Given the description of an element on the screen output the (x, y) to click on. 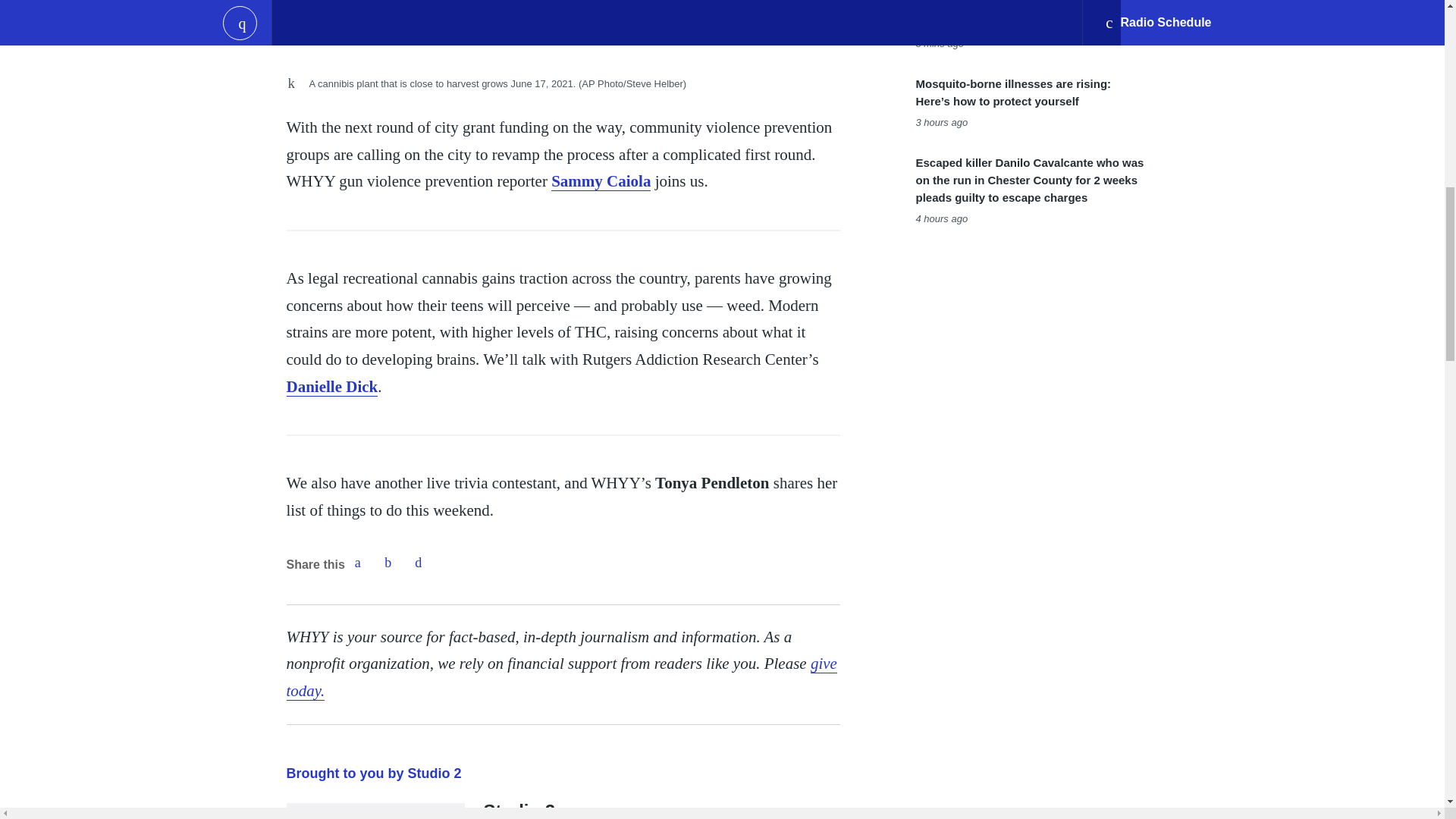
Twitter (387, 562)
Facebook (357, 562)
Email (418, 562)
